Given the description of an element on the screen output the (x, y) to click on. 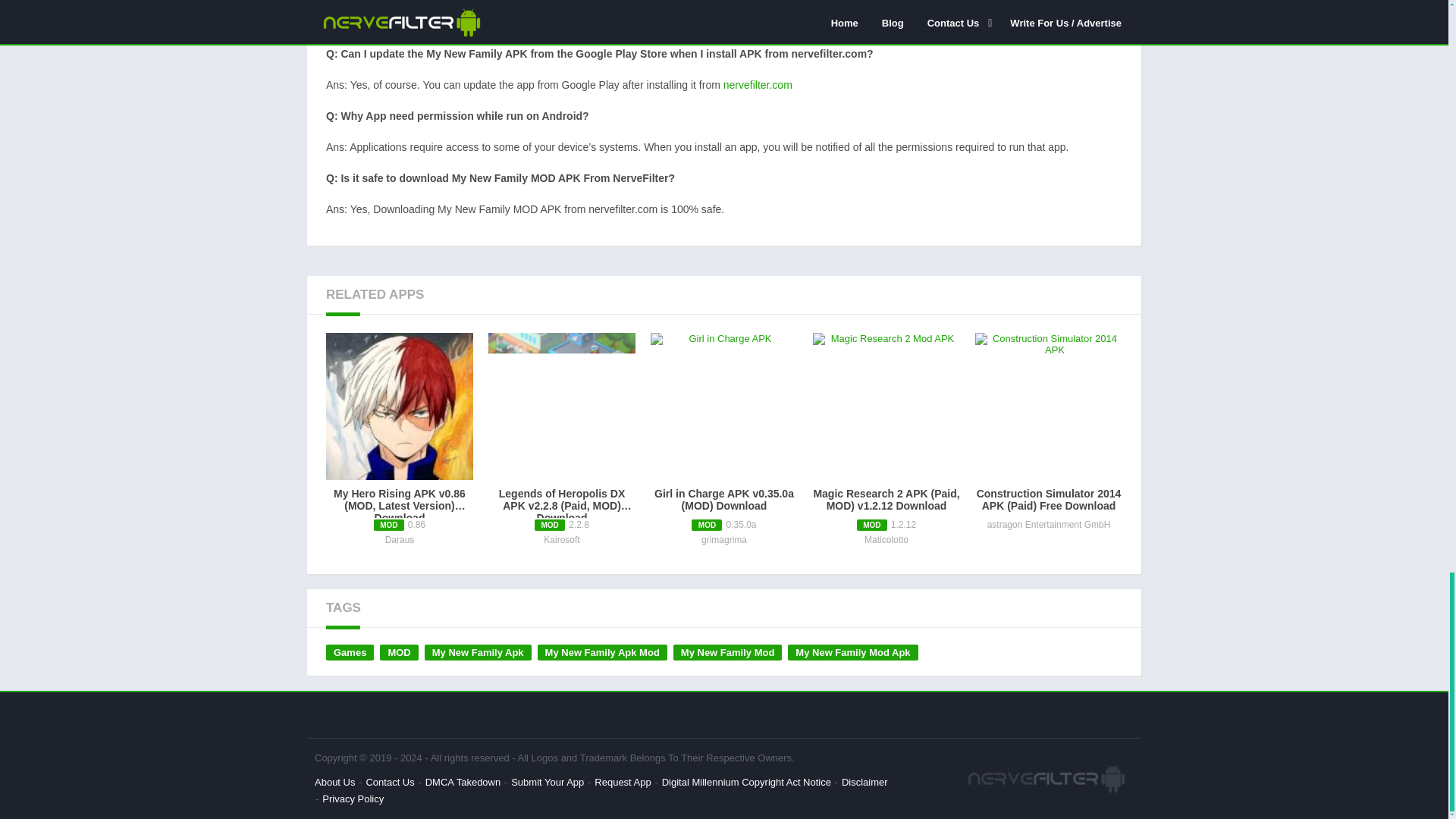
My New Family Apk (478, 652)
Request App (622, 781)
About Us (334, 781)
Submit Your App (547, 781)
Games (350, 652)
My New Family Mod (727, 652)
nervefilter.com (757, 84)
My New Family Apk Mod (601, 652)
Contact Us (389, 781)
Digital Millennium Copyright Act Notice (746, 781)
